Given the description of an element on the screen output the (x, y) to click on. 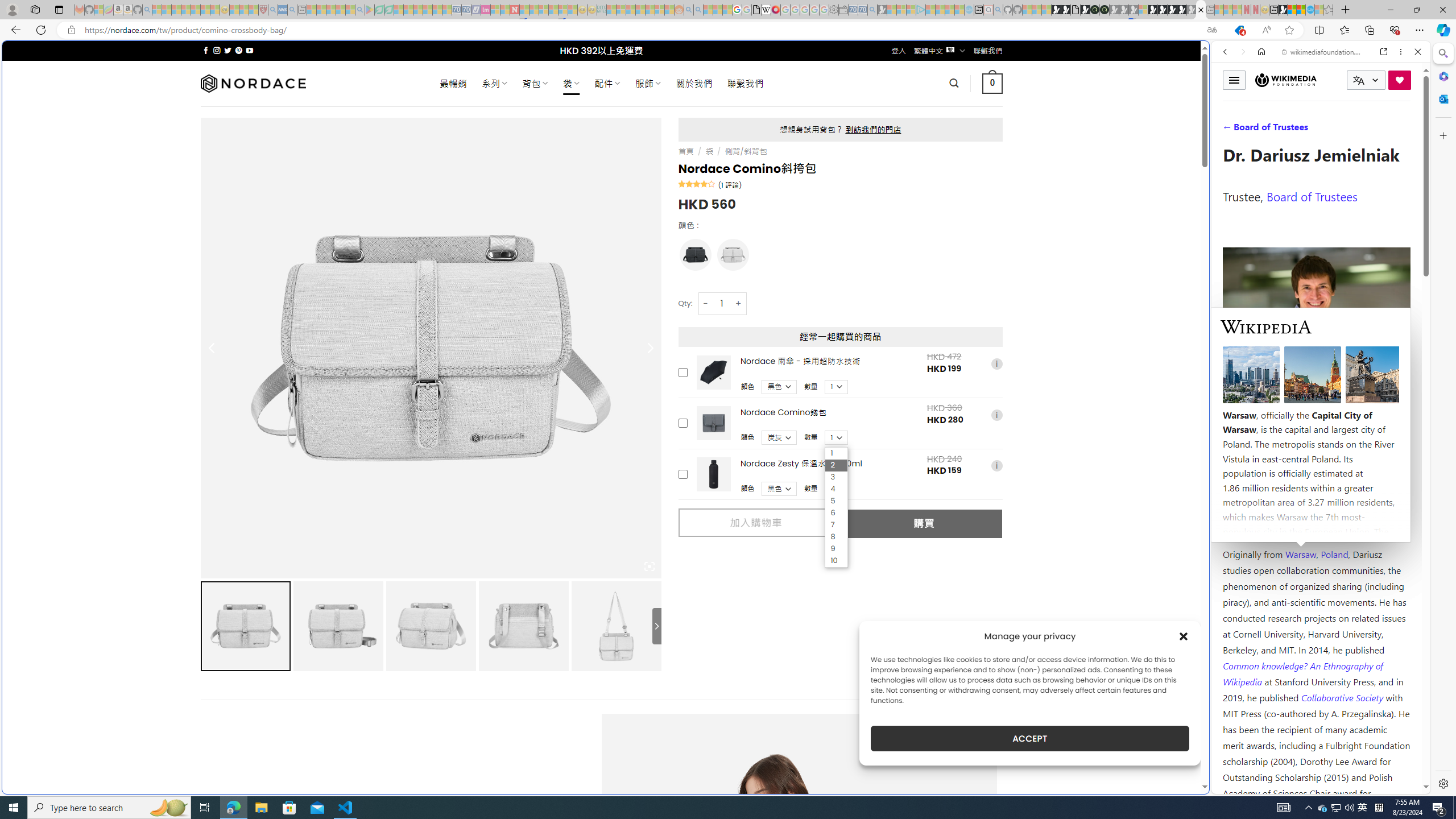
Add this product to cart (682, 474)
